Given the description of an element on the screen output the (x, y) to click on. 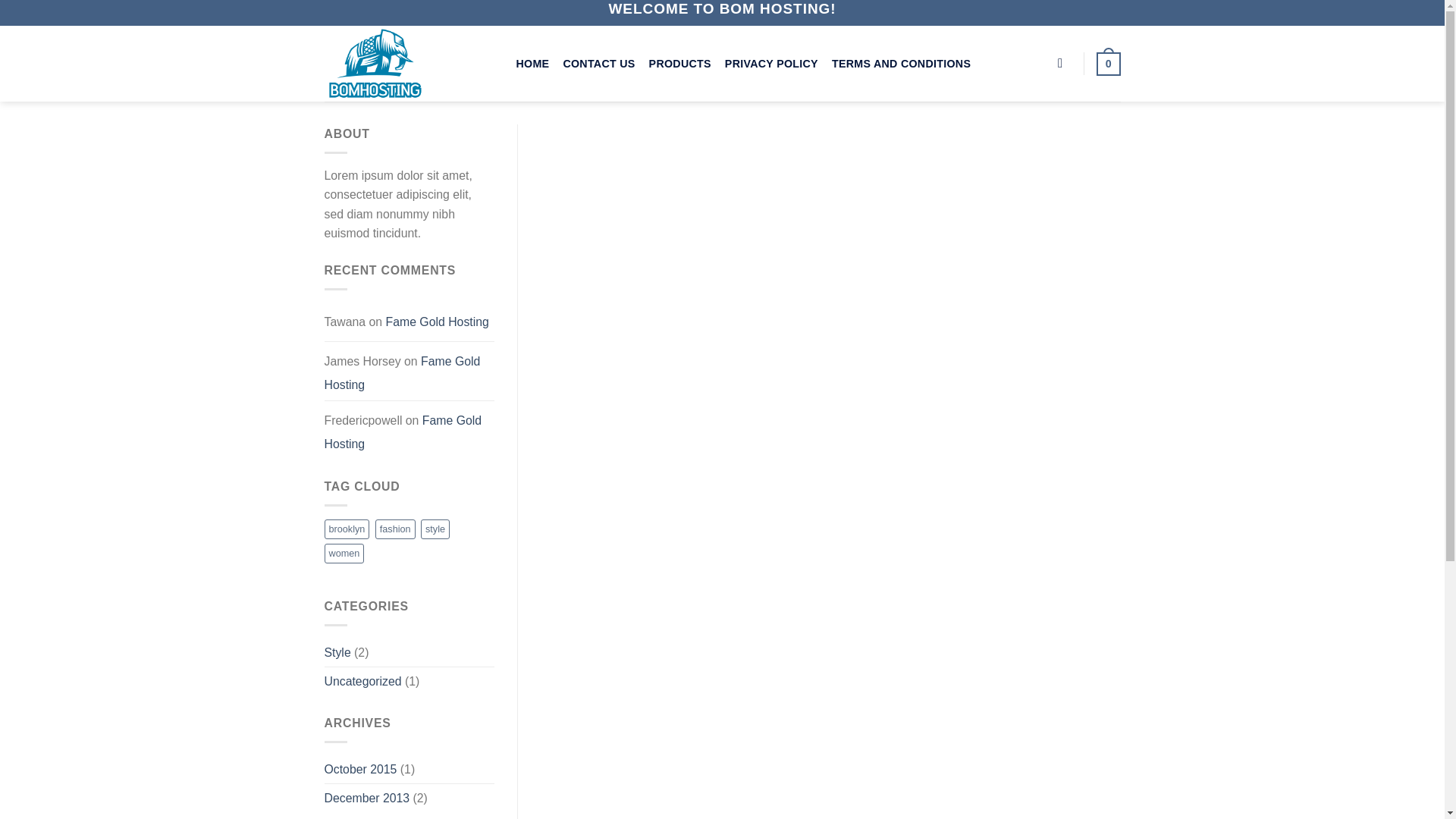
CONTACT US (598, 62)
PRIVACY POLICY (771, 62)
Fame Gold Hosting (402, 372)
PRODUCTS (680, 62)
Style (337, 652)
TERMS AND CONDITIONS (901, 62)
women (344, 553)
fashion (394, 528)
Uncategorized (362, 681)
HOME (531, 62)
